Given the description of an element on the screen output the (x, y) to click on. 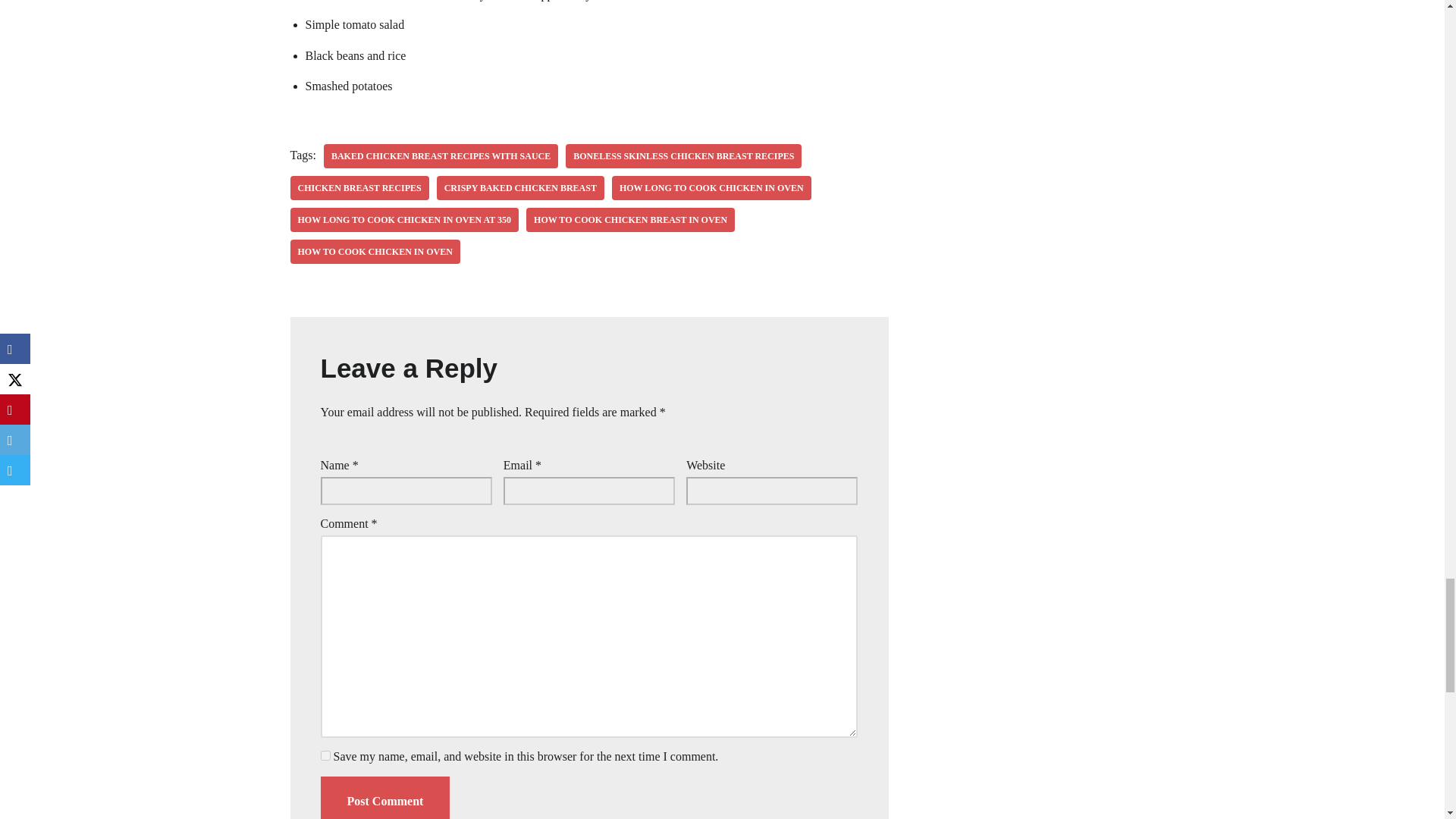
BONELESS SKINLESS CHICKEN BREAST RECIPES (684, 156)
baked chicken breast recipes with sauce (440, 156)
HOW TO COOK CHICKEN BREAST IN OVEN (630, 219)
HOW LONG TO COOK CHICKEN IN OVEN AT 350 (403, 219)
HOW LONG TO COOK CHICKEN IN OVEN (710, 187)
yes (325, 755)
CHICKEN BREAST RECIPES (358, 187)
Post Comment (384, 797)
boneless skinless chicken breast recipes (684, 156)
CRISPY BAKED CHICKEN BREAST (520, 187)
how to cook chicken in oven (374, 251)
chicken breast recipes (358, 187)
crispy baked chicken breast (520, 187)
HOW TO COOK CHICKEN IN OVEN (374, 251)
how long to cook chicken in oven (710, 187)
